Given the description of an element on the screen output the (x, y) to click on. 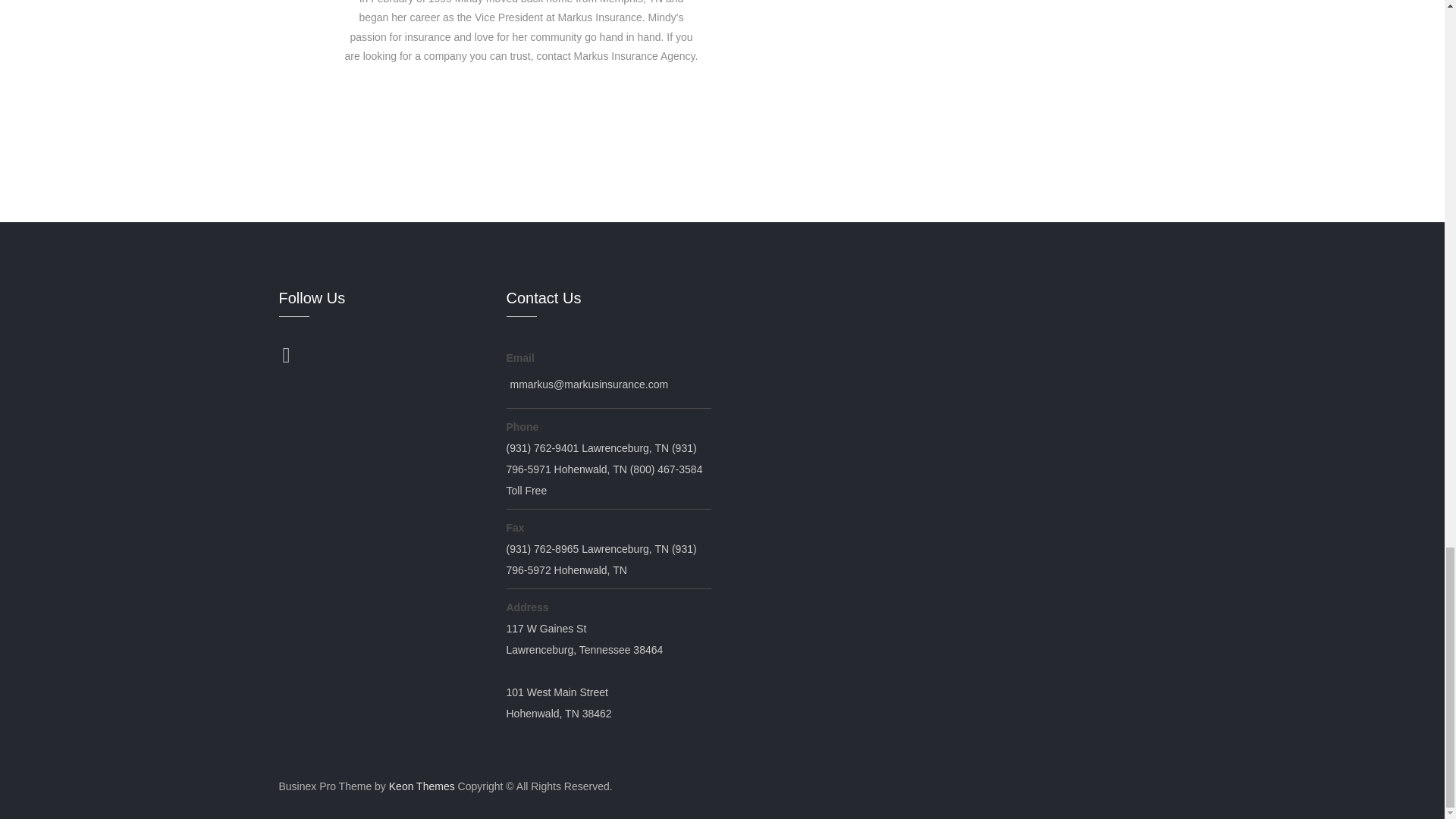
Keon Themes (421, 786)
